Given the description of an element on the screen output the (x, y) to click on. 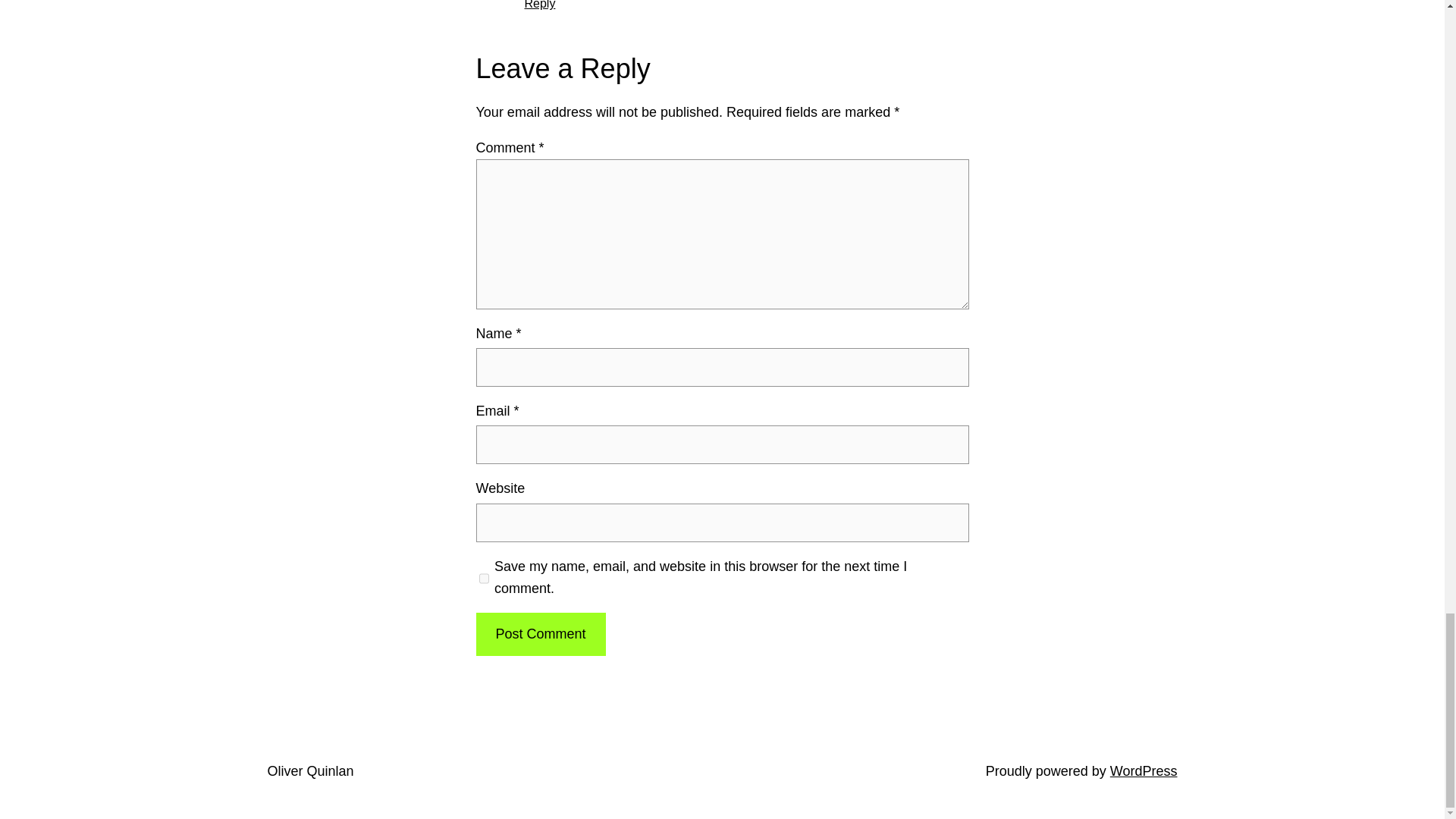
Post Comment (540, 634)
WordPress (1143, 770)
Oliver Quinlan (309, 770)
Post Comment (540, 634)
Reply (540, 4)
